Given the description of an element on the screen output the (x, y) to click on. 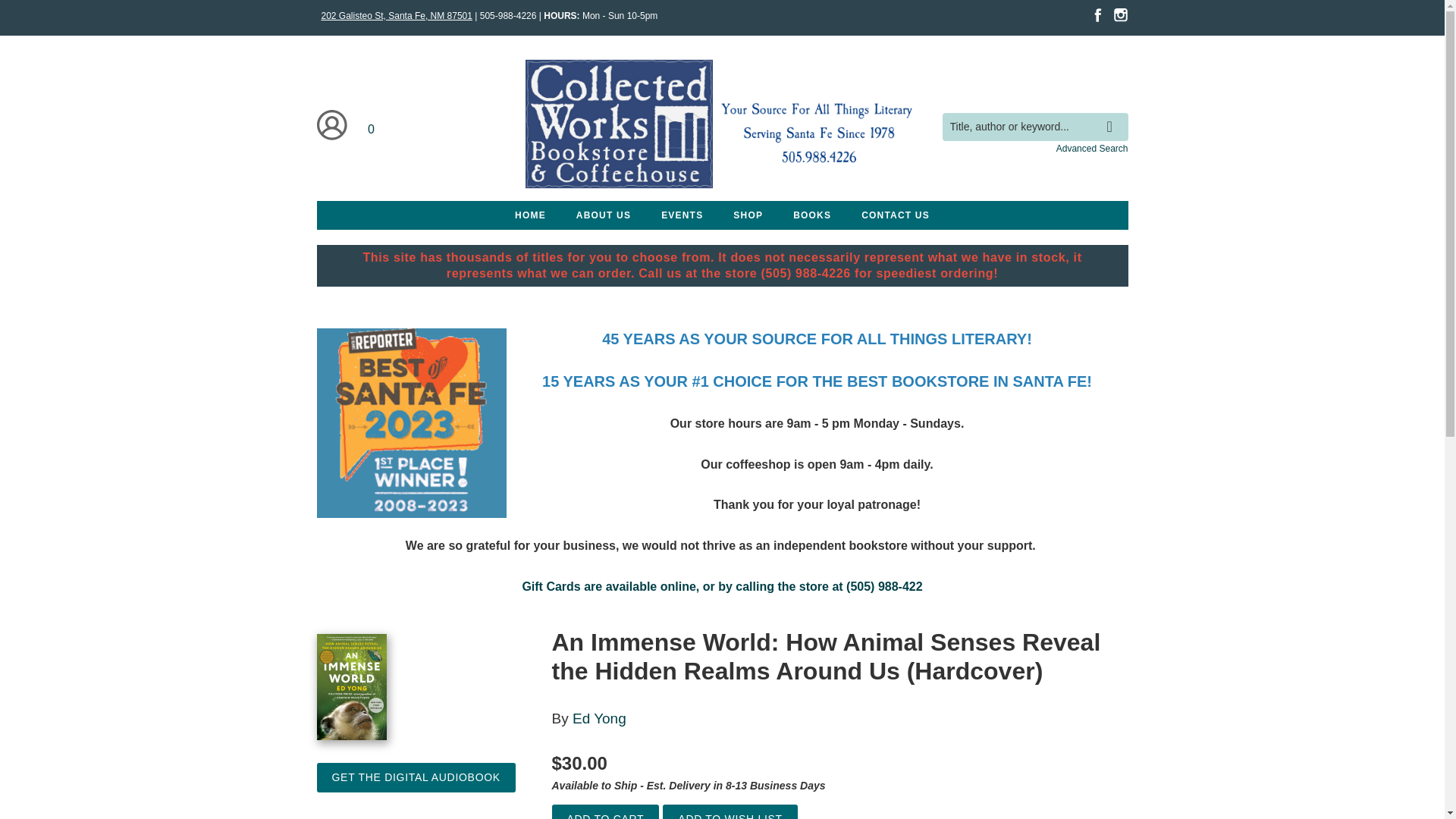
search (1112, 115)
SHOP (747, 215)
EVENTS (681, 215)
online, (680, 585)
Get the Digital Audiobook (416, 777)
HOME (529, 215)
Add to Cart (605, 811)
Advanced Search (1092, 148)
Add to Wish List (729, 811)
Home (721, 126)
Get the Digital Audiobook (416, 777)
search (1112, 115)
Gift Cards are available (590, 585)
Add to Cart (605, 811)
Ed Yong (599, 718)
